Given the description of an element on the screen output the (x, y) to click on. 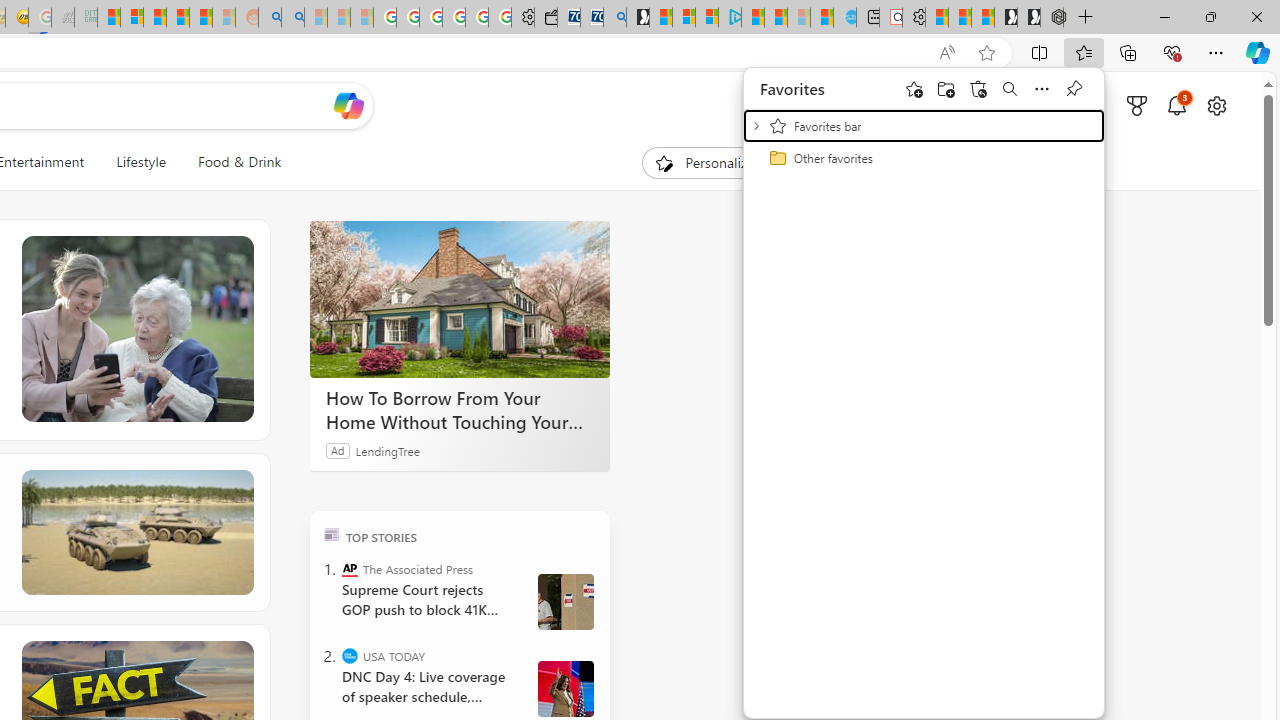
Search favorites (1009, 88)
Utah sues federal government - Search (292, 17)
Bing Real Estate - Home sales and rental listings (614, 17)
